Given the description of an element on the screen output the (x, y) to click on. 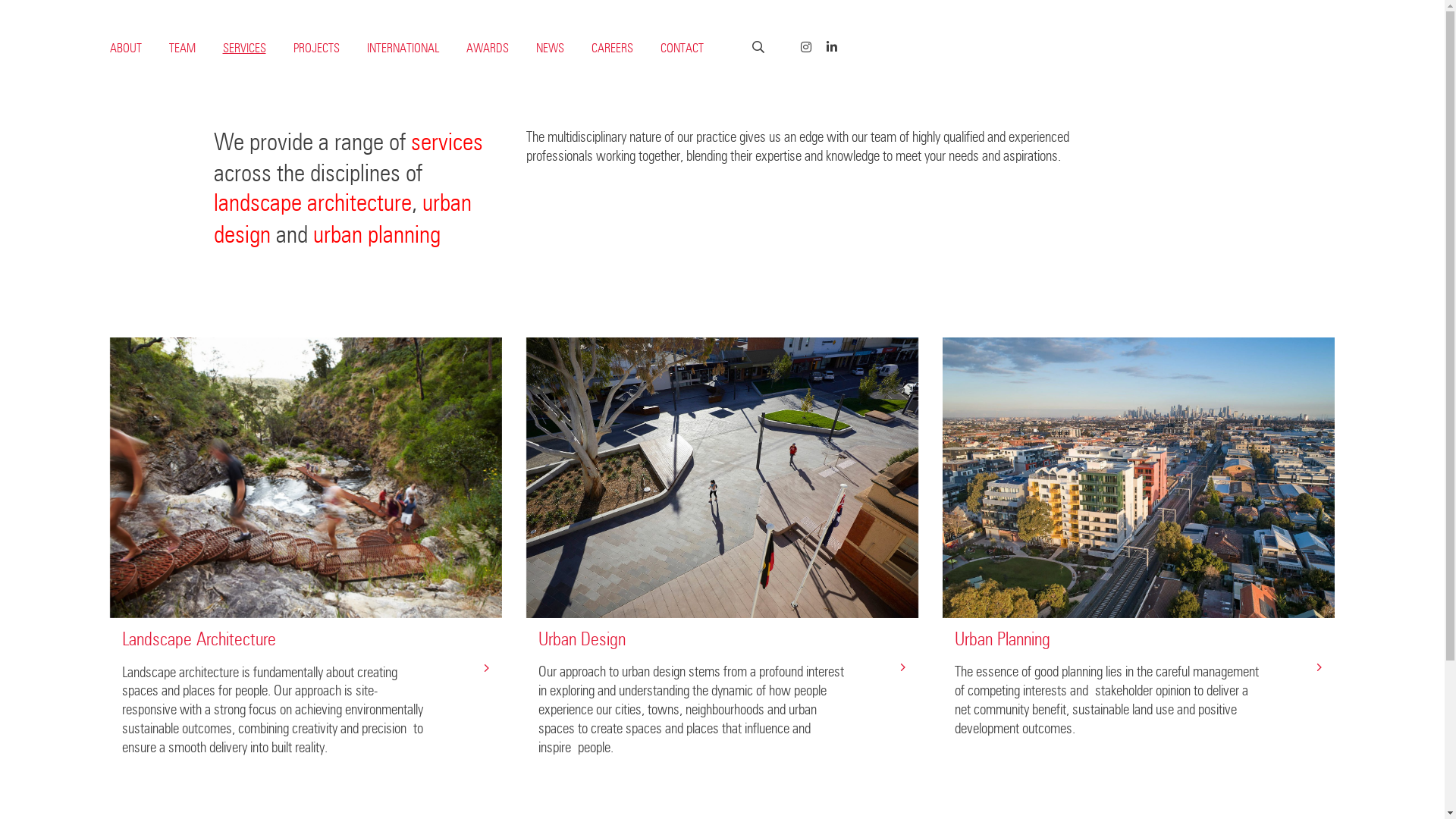
AWARDS Element type: text (486, 49)
TEAM Element type: text (181, 49)
CAREERS Element type: text (612, 49)
SERVICES Element type: text (244, 49)
CONTACT Element type: text (680, 49)
PROJECTS Element type: text (315, 49)
Search Element type: text (106, 18)
NEWS Element type: text (549, 49)
ABOUT Element type: text (125, 49)
INTERNATIONAL Element type: text (403, 49)
